Given the description of an element on the screen output the (x, y) to click on. 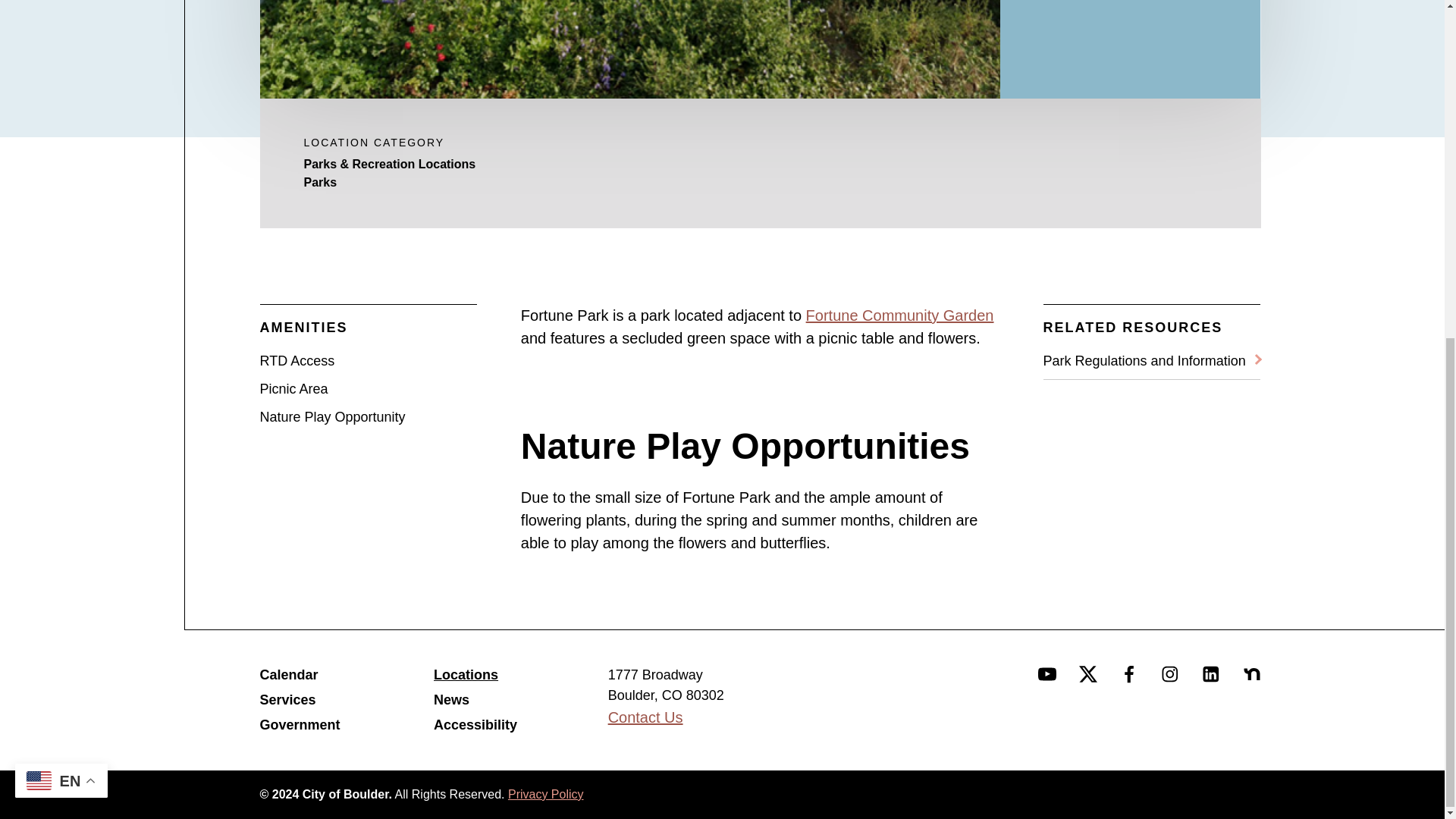
Calendar (346, 675)
Locations (520, 675)
Fortune Community Garden (900, 315)
Park Regulations and Information (1151, 361)
Services (346, 700)
